Given the description of an element on the screen output the (x, y) to click on. 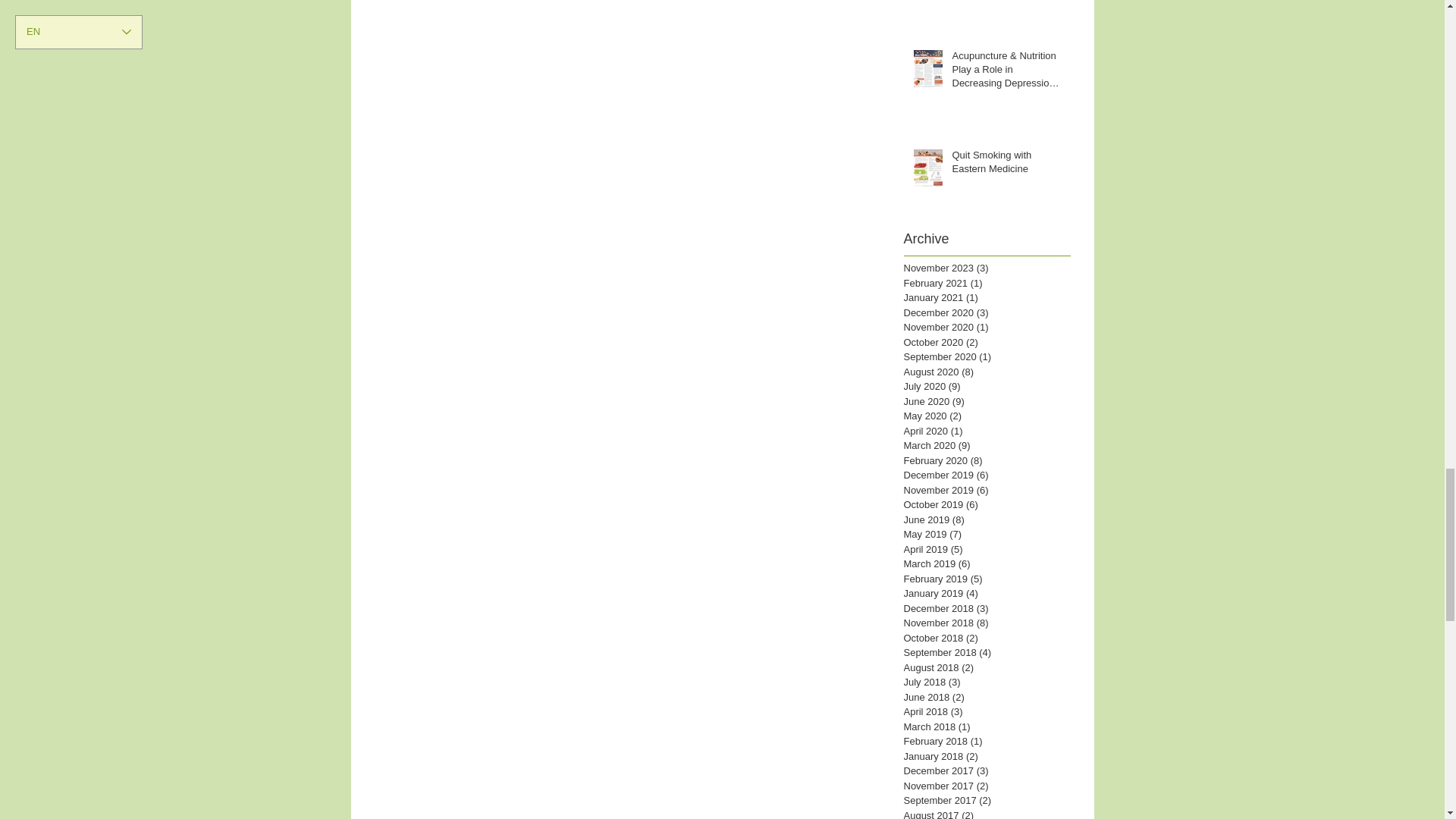
Quit Smoking with Eastern Medicine (1006, 164)
